Given the description of an element on the screen output the (x, y) to click on. 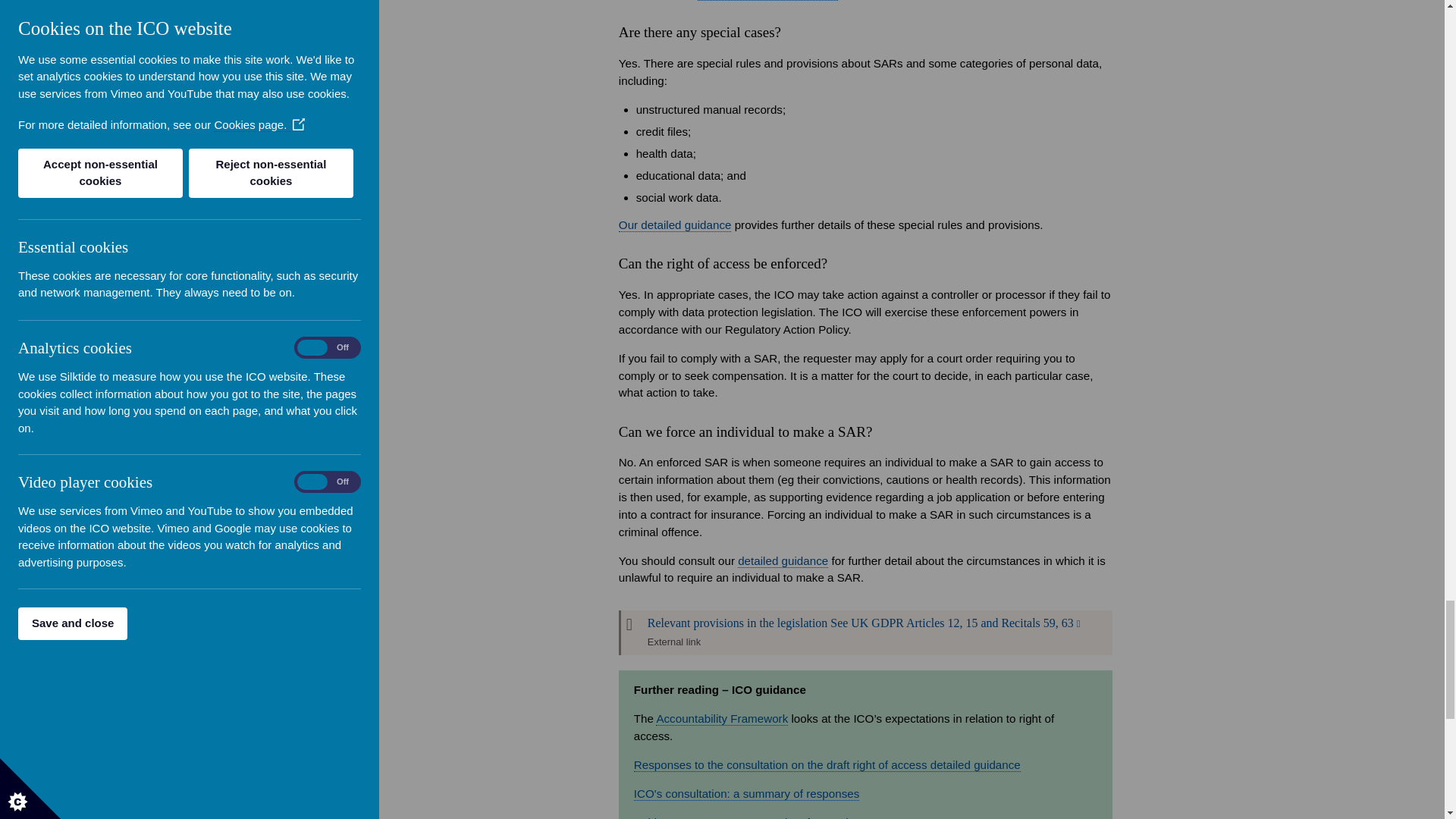
Are there any special cases? (675, 224)
Can we force an individual to make a SAR? (783, 561)
